Given the description of an element on the screen output the (x, y) to click on. 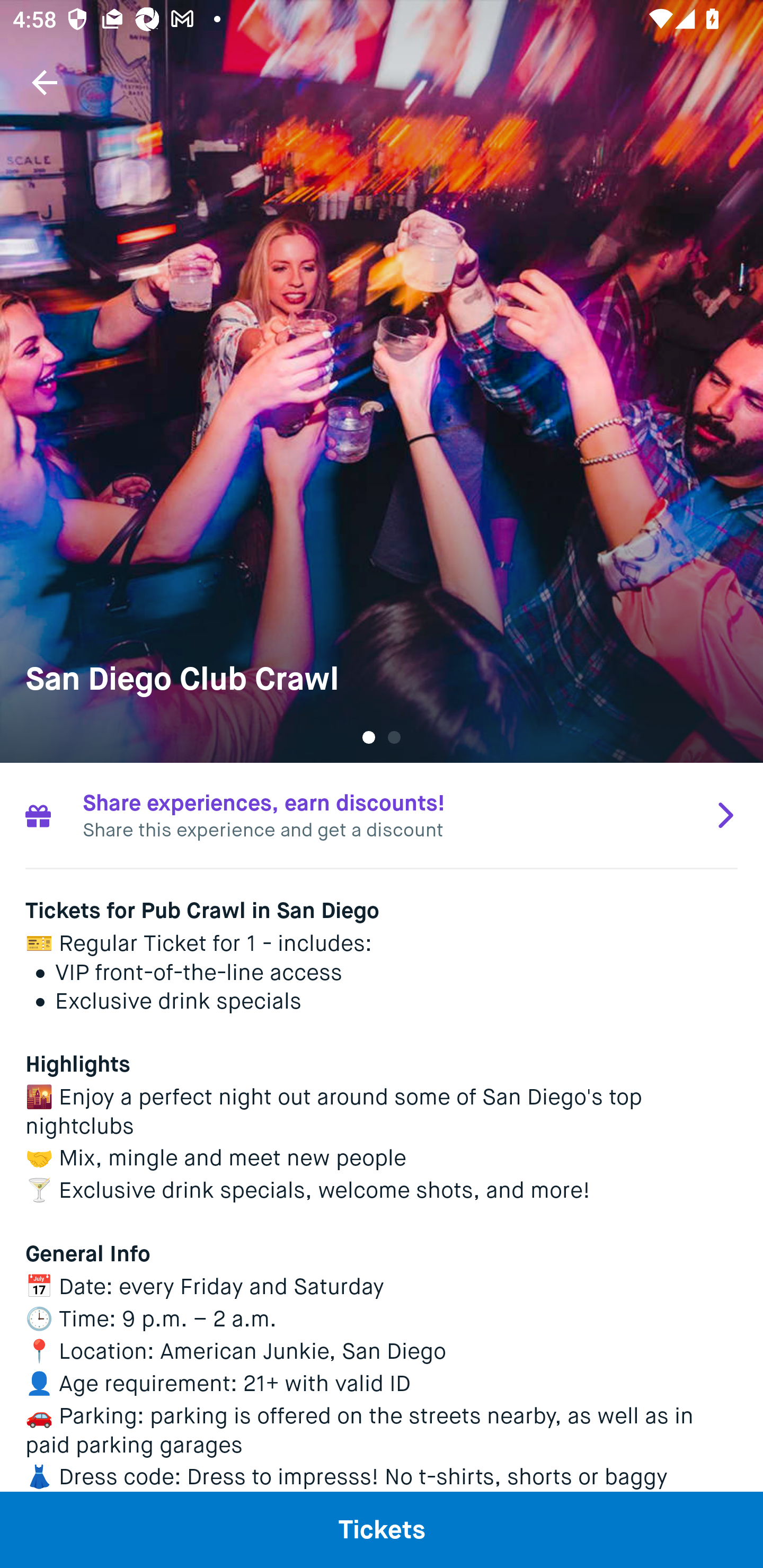
Navigate up (44, 82)
Tickets (381, 1529)
